Given the description of an element on the screen output the (x, y) to click on. 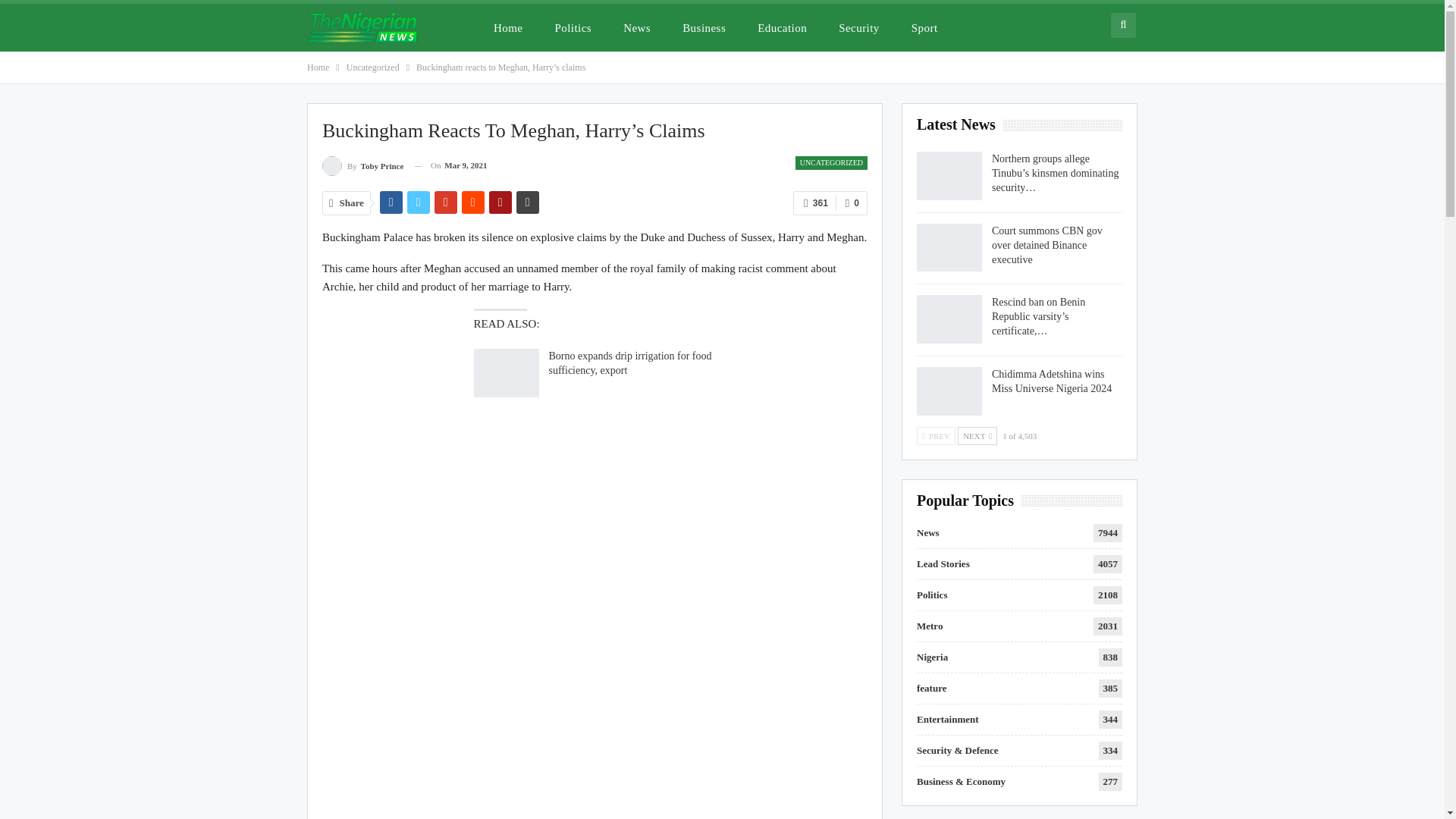
Education (781, 27)
Home (318, 67)
Borno expands drip irrigation for food sufficiency, export (505, 372)
UNCATEGORIZED (830, 162)
Business (703, 27)
0 (851, 202)
Home (508, 27)
News (636, 27)
Security (859, 27)
Uncategorized (372, 67)
